Given the description of an element on the screen output the (x, y) to click on. 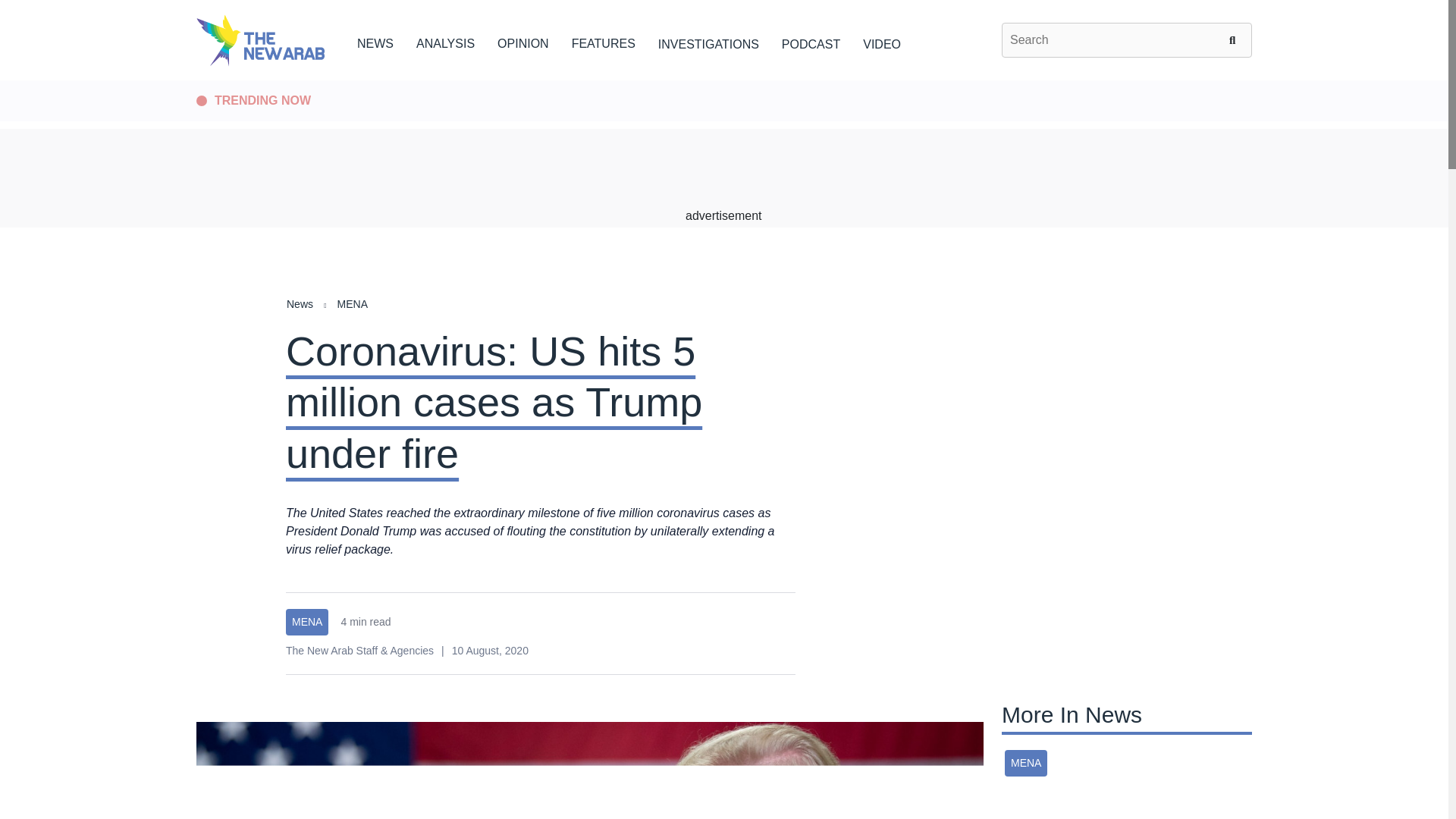
OPINION (523, 41)
NEWS (375, 41)
ANALYSIS (445, 41)
Skip to main content (724, 81)
Search (1234, 39)
